Given the description of an element on the screen output the (x, y) to click on. 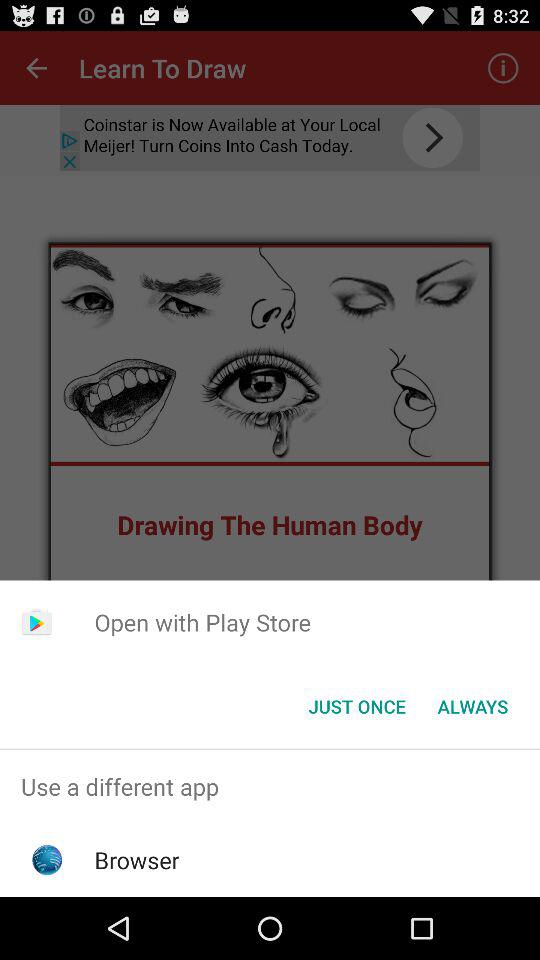
select always (472, 706)
